Given the description of an element on the screen output the (x, y) to click on. 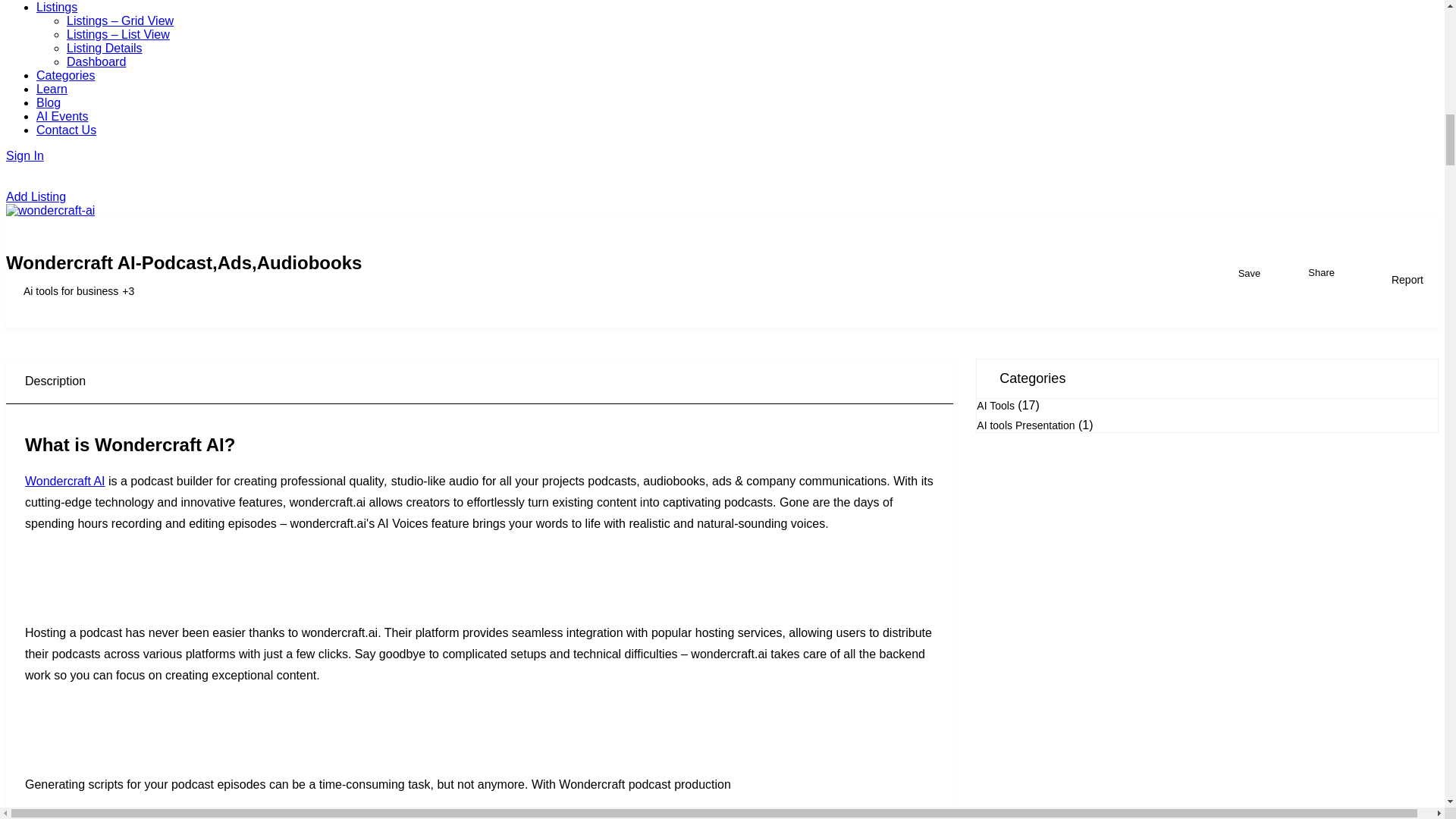
Dashboard (95, 61)
AI Events (61, 115)
Add Listing (721, 189)
Listing Details (104, 47)
Listings (56, 6)
Learn (51, 88)
Contact Us (66, 129)
Sign In (721, 162)
Ai tools for business (61, 290)
Categories (65, 74)
